Given the description of an element on the screen output the (x, y) to click on. 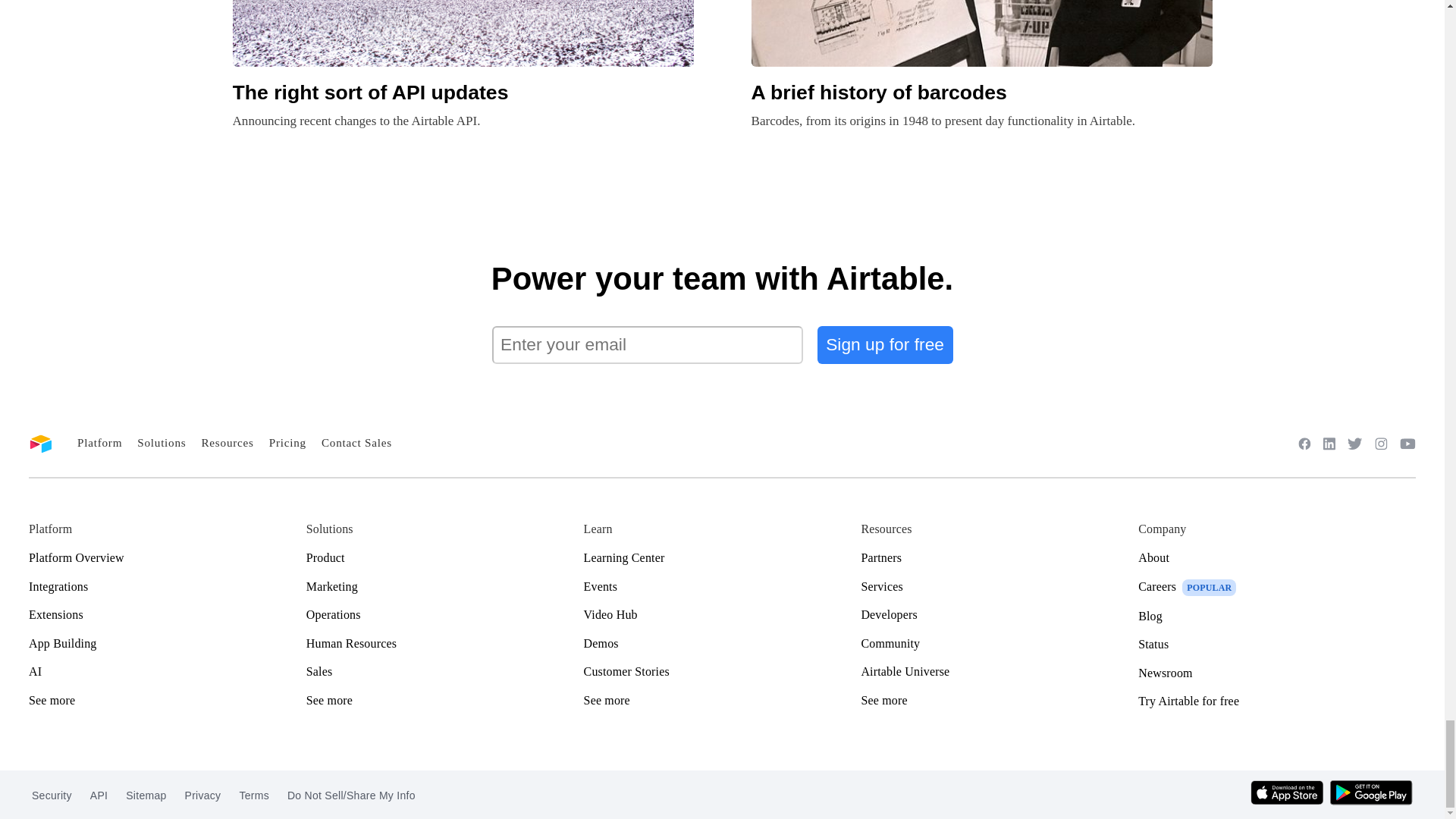
Solutions (161, 441)
Integrations (167, 586)
Pricing (287, 441)
Extensions (167, 614)
Resources (226, 441)
Sign up for free (884, 344)
Sign up for free (884, 344)
App Building (167, 643)
Platform Overview (167, 557)
Platform (99, 441)
Contact Sales (356, 441)
AI (167, 671)
